Given the description of an element on the screen output the (x, y) to click on. 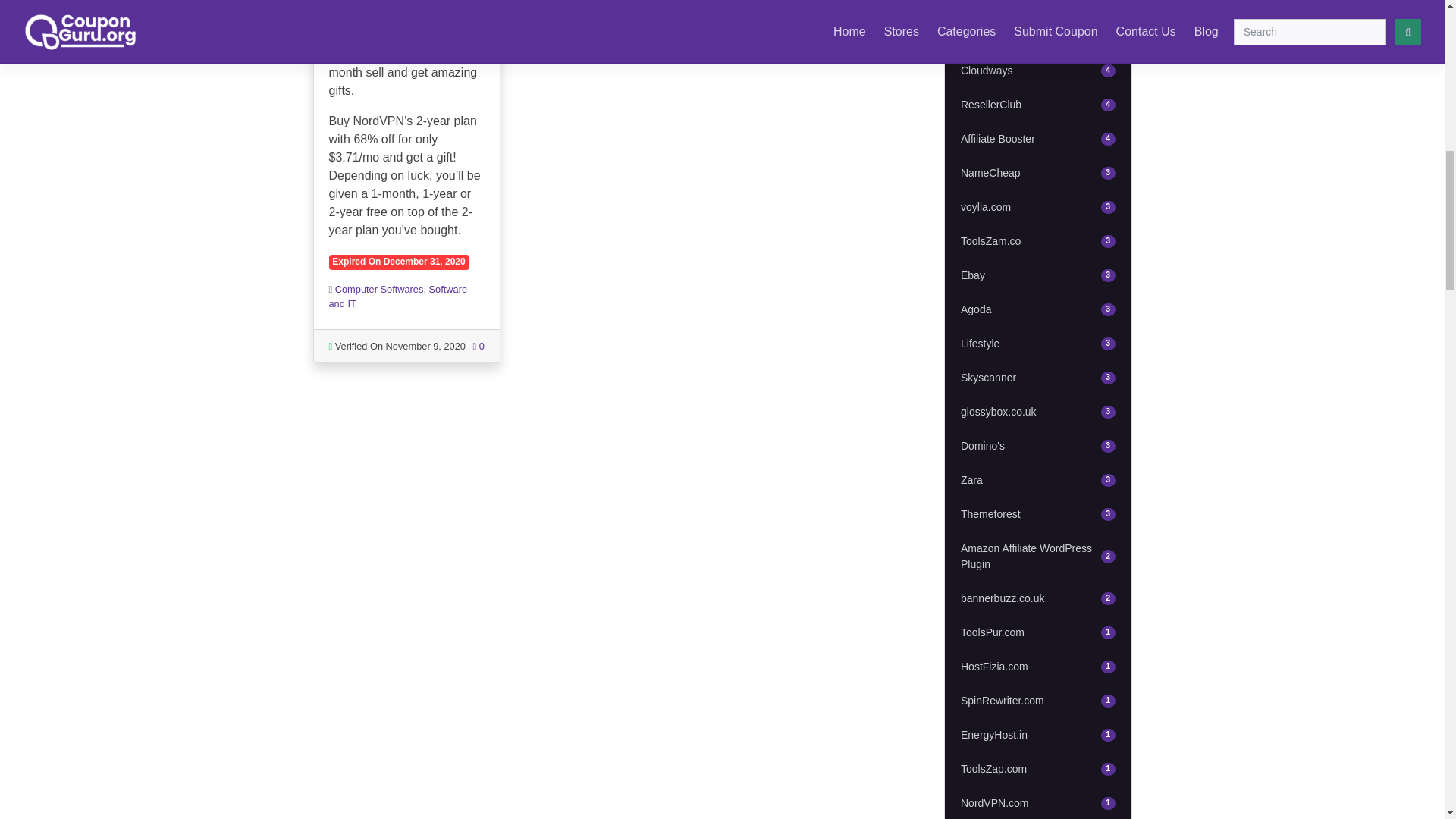
Computer Softwares (1037, 309)
Software and IT (1037, 36)
0 (378, 288)
